Given the description of an element on the screen output the (x, y) to click on. 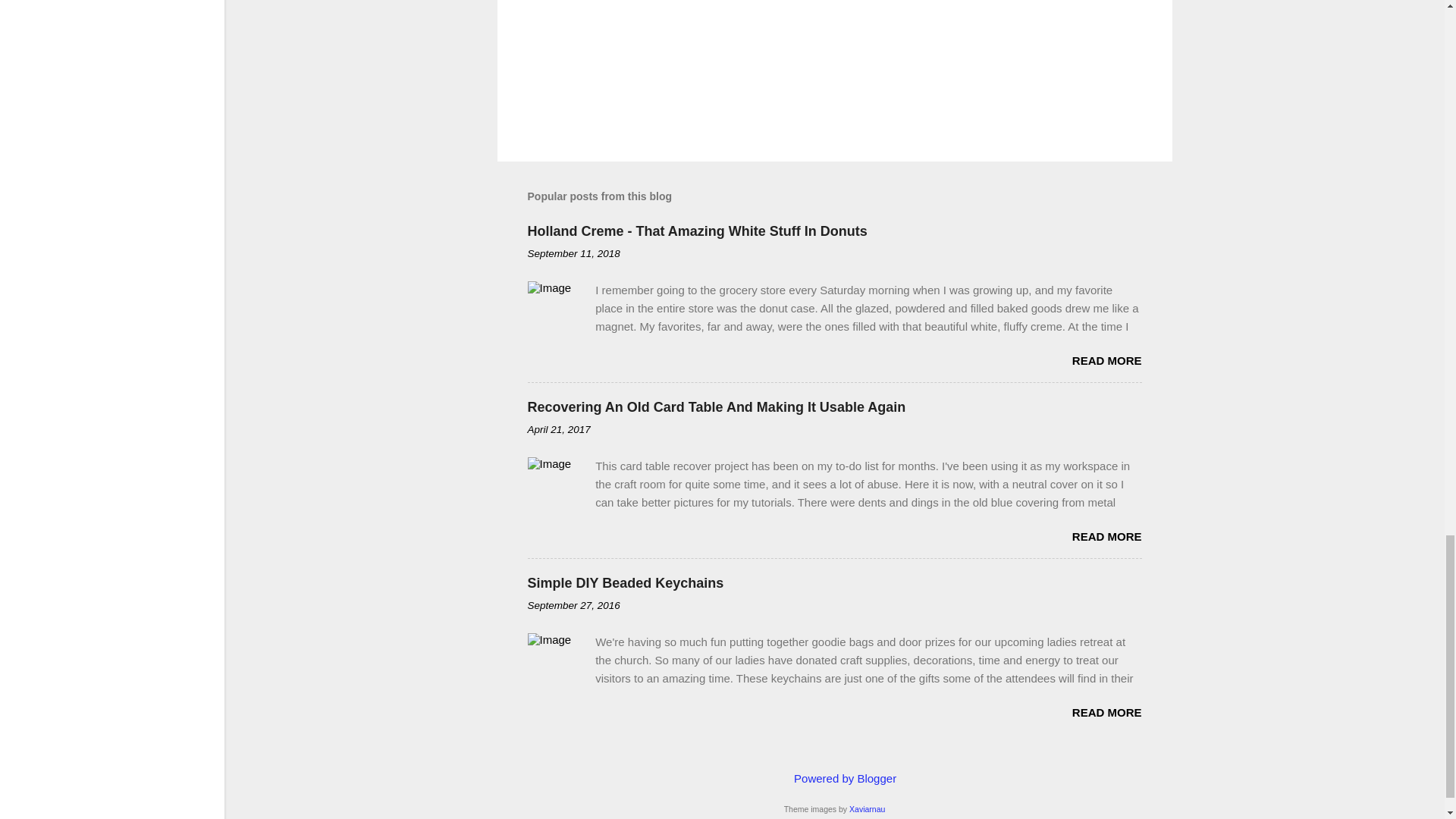
September 27, 2016 (573, 604)
Powered by Blogger (834, 778)
Holland Creme - That Amazing White Stuff In Donuts (697, 231)
September 11, 2018 (573, 253)
READ MORE (1106, 535)
Simple DIY Beaded Keychains (625, 582)
Xaviarnau (866, 809)
April 21, 2017 (559, 429)
permanent link (573, 253)
READ MORE (1106, 359)
Recovering An Old Card Table And Making It Usable Again (716, 406)
READ MORE (1106, 712)
